Given the description of an element on the screen output the (x, y) to click on. 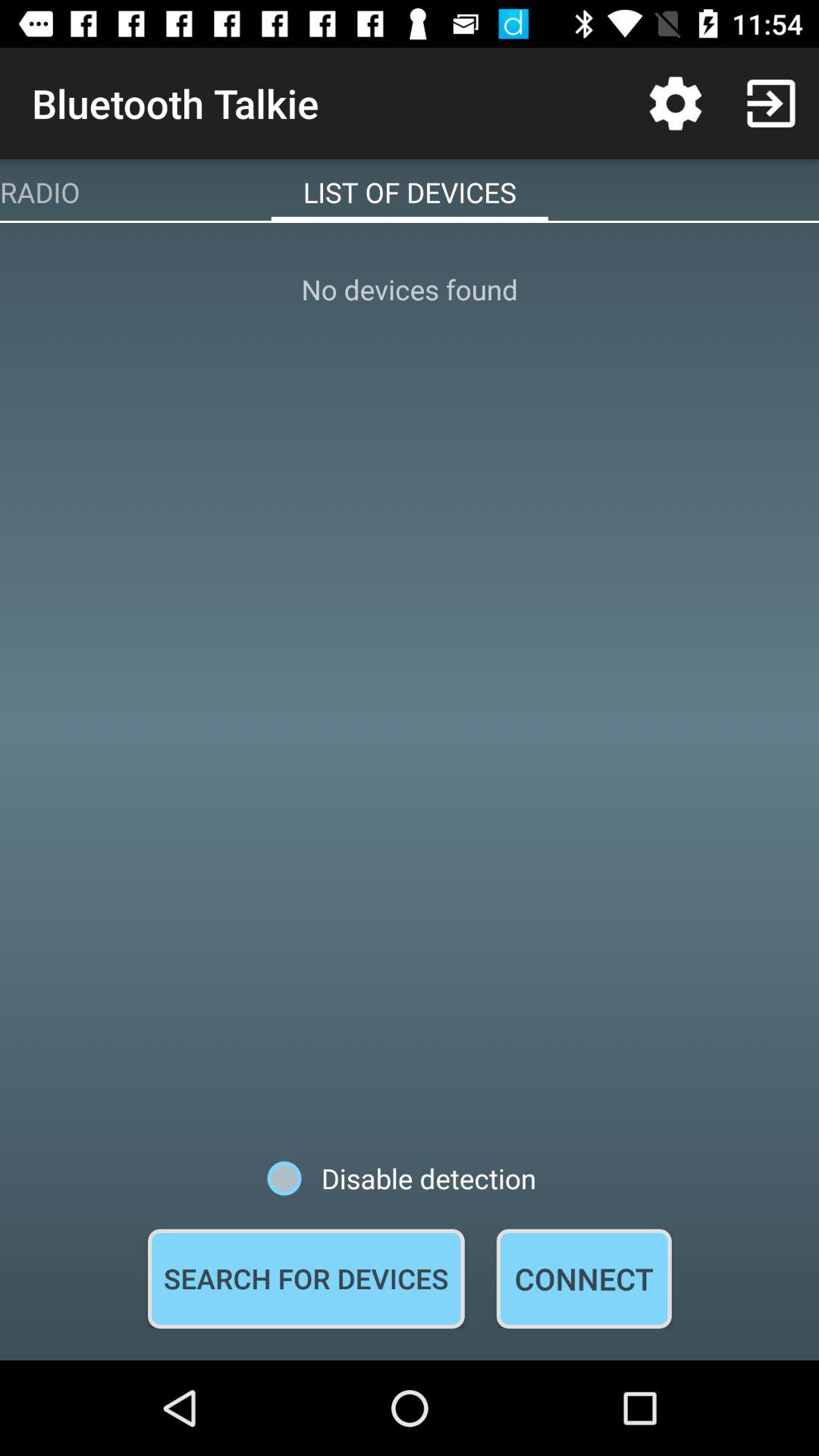
launch item below radio app (409, 690)
